Given the description of an element on the screen output the (x, y) to click on. 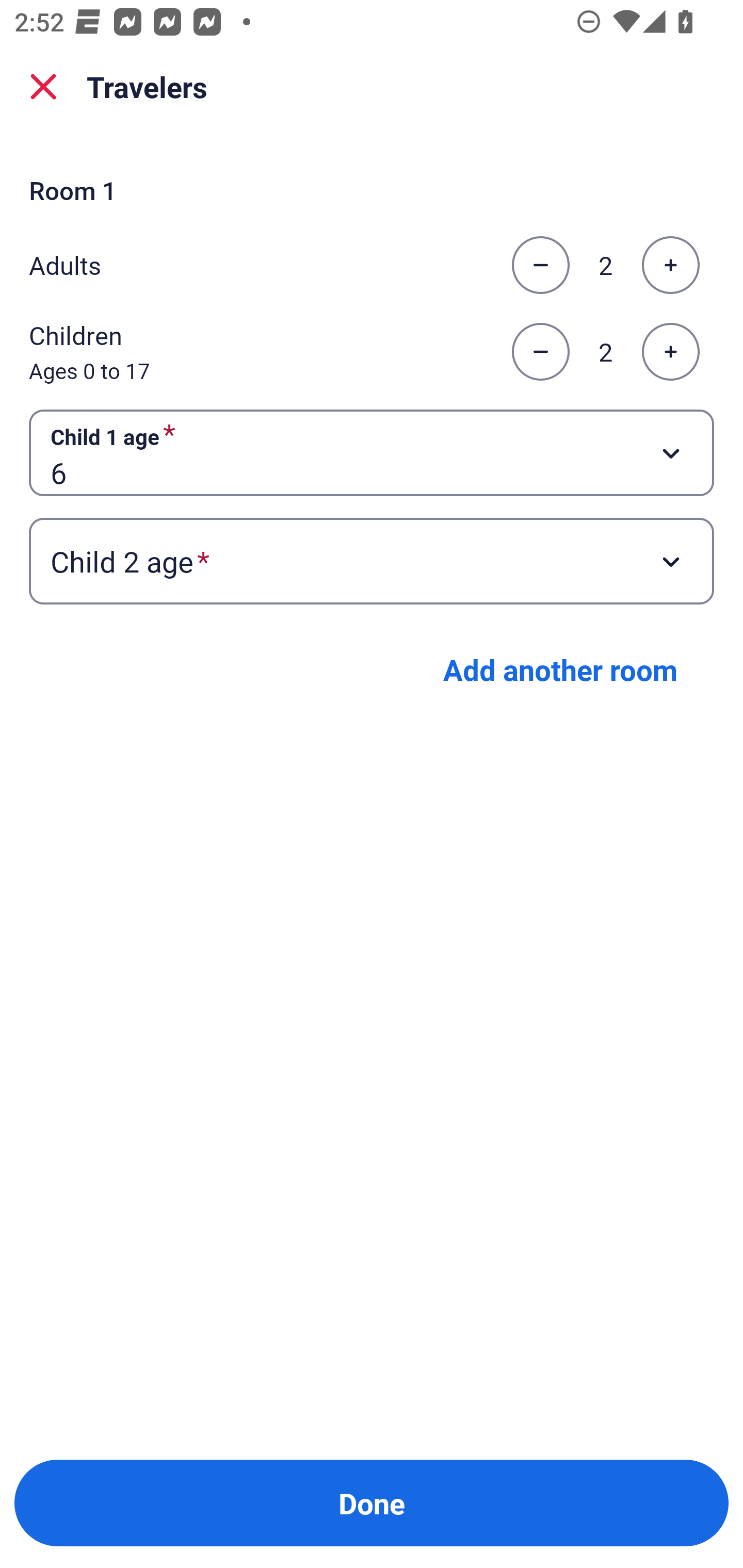
close (43, 86)
Decrease the number of adults (540, 264)
Increase the number of adults (670, 264)
Decrease the number of children (540, 351)
Increase the number of children (670, 351)
Child 1 age required Button 6 (371, 452)
Child 2 age required Button (371, 561)
Add another room (560, 669)
Done (371, 1502)
